Given the description of an element on the screen output the (x, y) to click on. 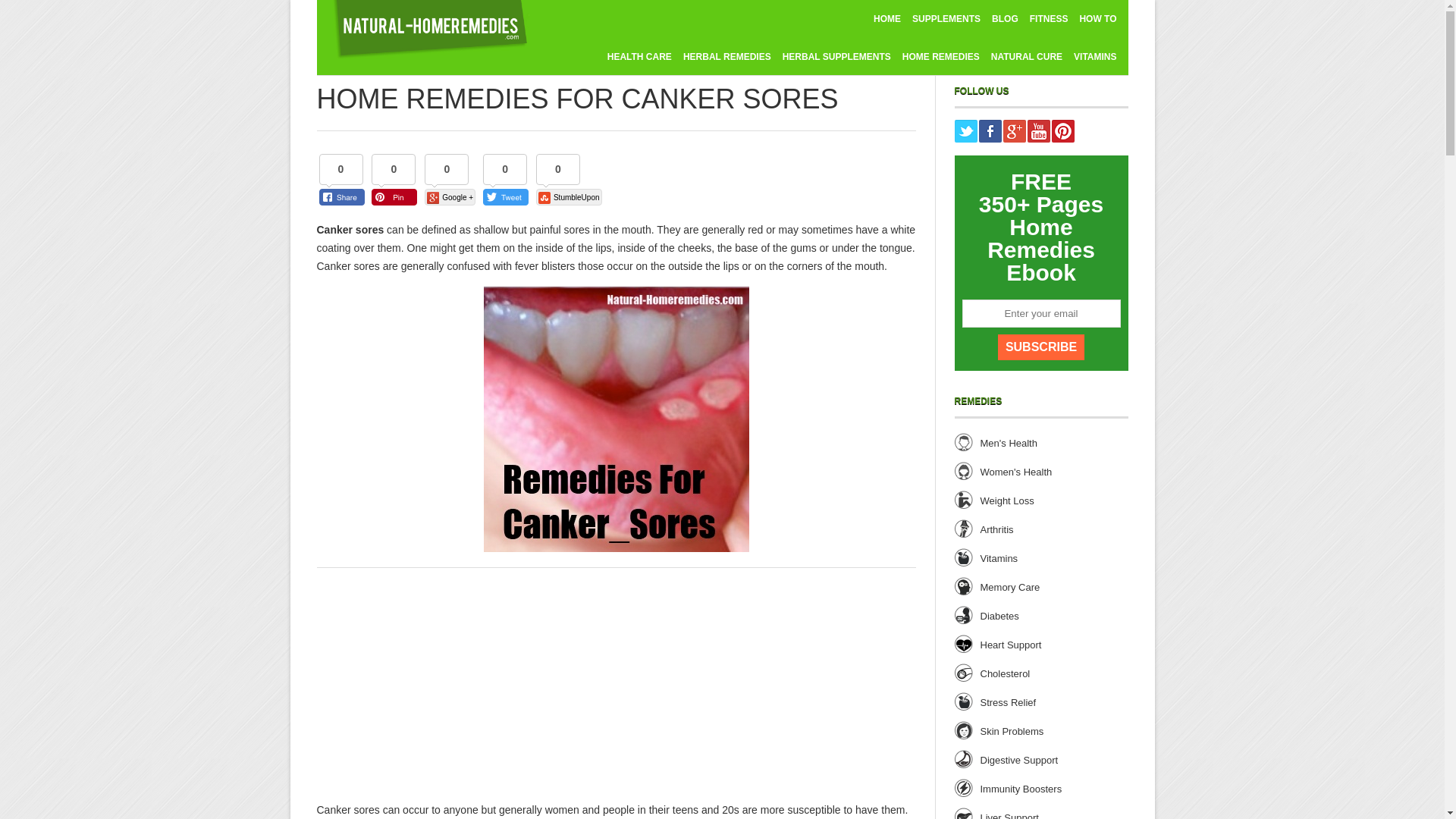
HOW TO (1097, 18)
Google Plus (1014, 130)
YouTube (1037, 130)
Weight Loss (1006, 500)
Vitamins (998, 558)
HERBAL REMEDIES (726, 56)
FITNESS (1048, 18)
Digestive Support (1018, 759)
Skin Problems (1011, 731)
Subscribe (1040, 347)
Women's Health (1015, 471)
Liver Support (1008, 815)
Advertisement (444, 689)
Twitter (964, 130)
Arthritis (996, 529)
